Given the description of an element on the screen output the (x, y) to click on. 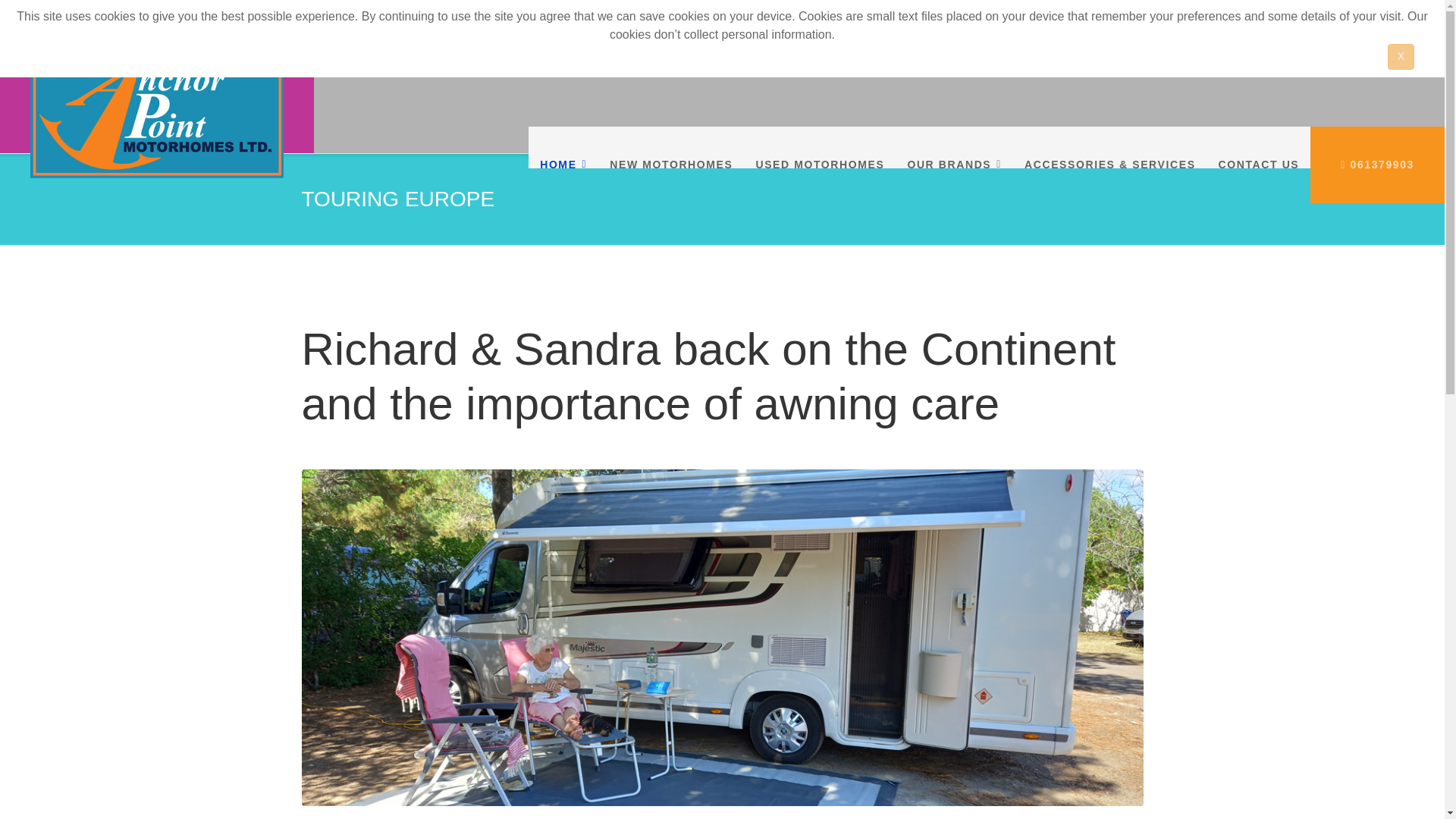
NEW MOTORHOMES (671, 164)
X (1400, 56)
USED MOTORHOMES (819, 164)
CONTACT US (1259, 164)
OUR BRANDS (954, 164)
